Given the description of an element on the screen output the (x, y) to click on. 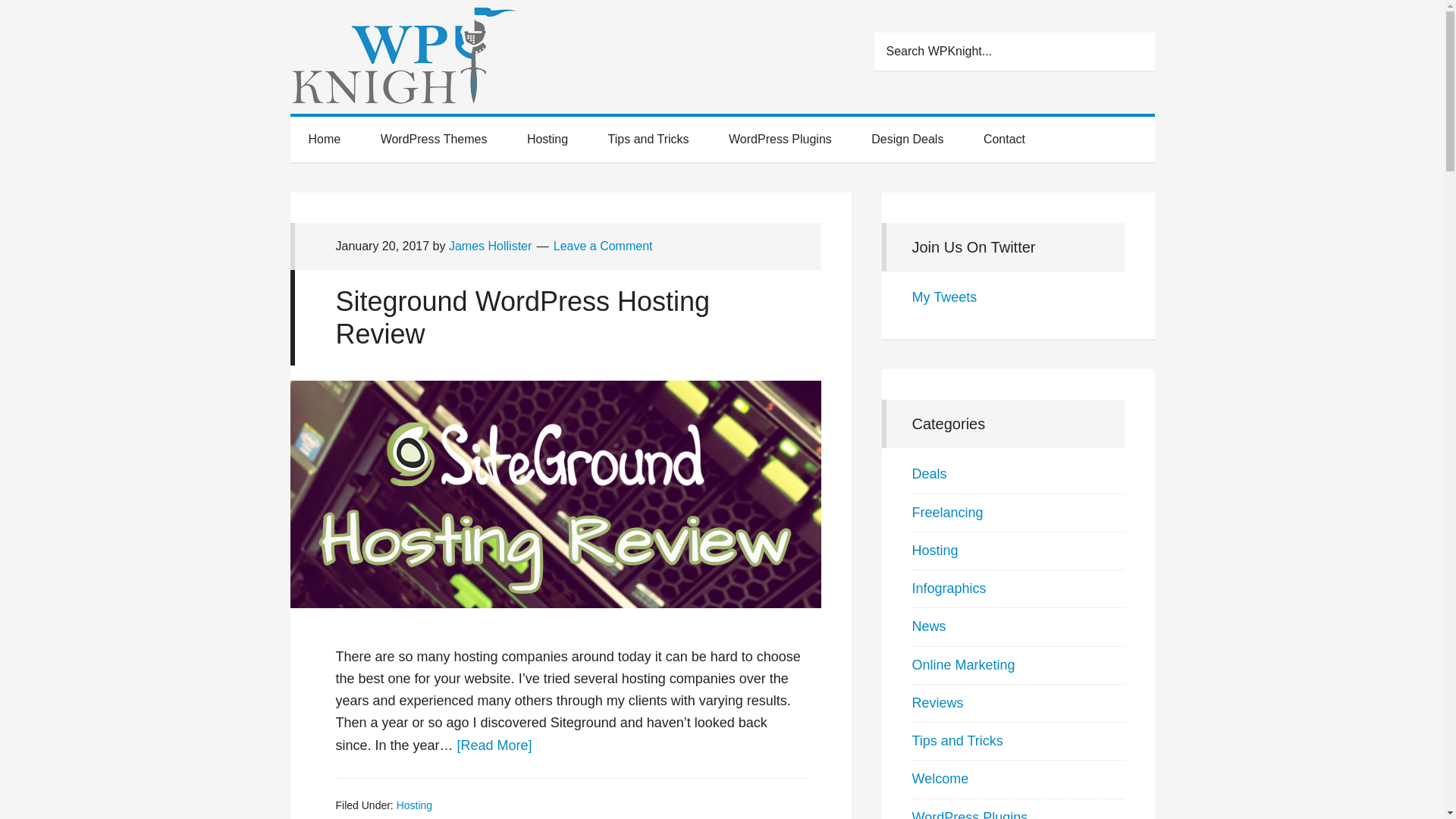
Hosting (414, 805)
Tips and Tricks (648, 139)
Leave a Comment (602, 245)
Design Deals (906, 139)
WPKnight (425, 60)
Contact (1004, 139)
Siteground WordPress Hosting Review (522, 317)
Home (323, 139)
James Hollister (489, 245)
WordPress Themes (433, 139)
Hosting (547, 139)
WordPress Plugins (780, 139)
